Given the description of an element on the screen output the (x, y) to click on. 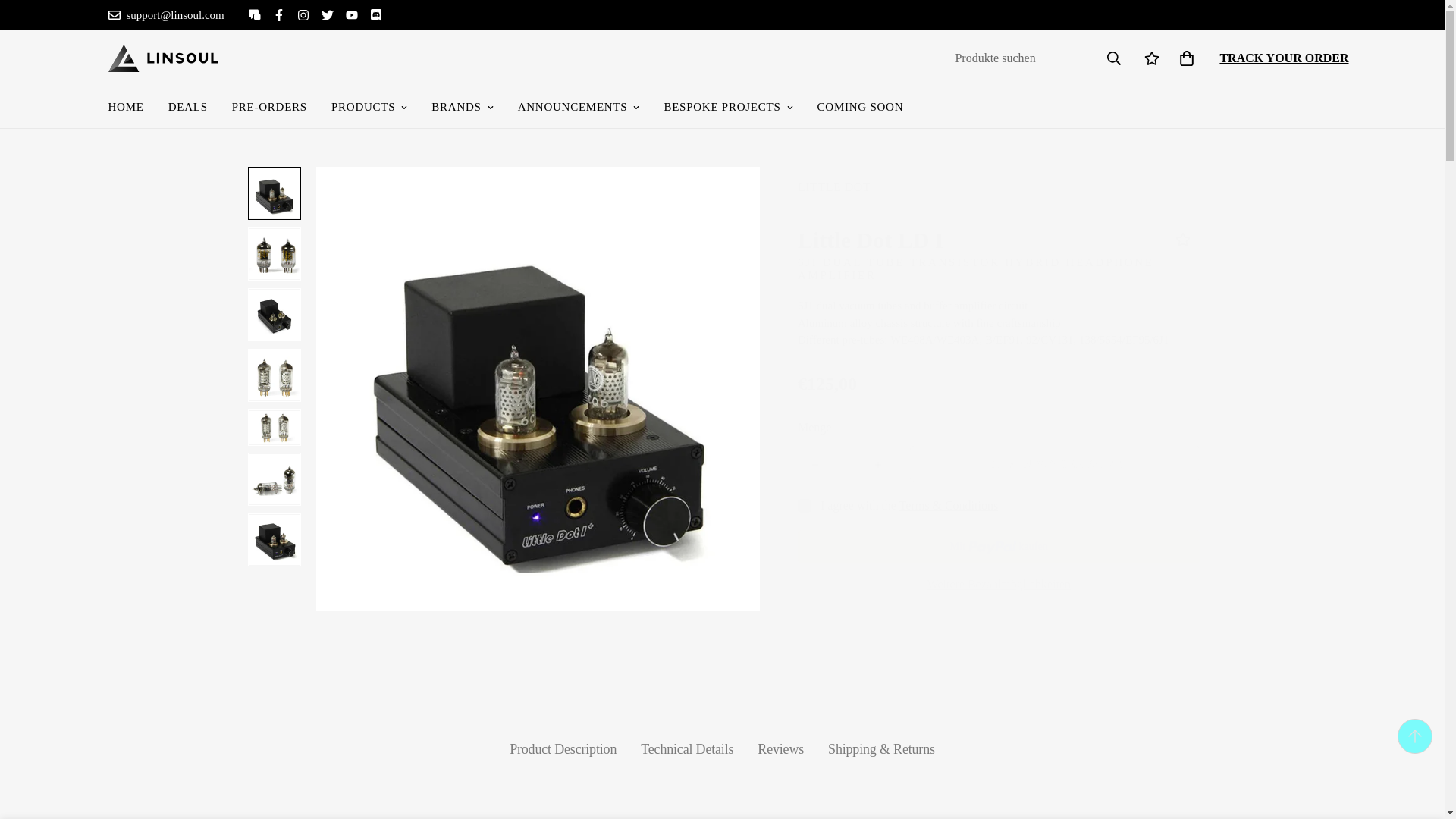
yes (803, 505)
Little Dot (833, 186)
1 (846, 463)
Linsoul-DE (161, 57)
